Given the description of an element on the screen output the (x, y) to click on. 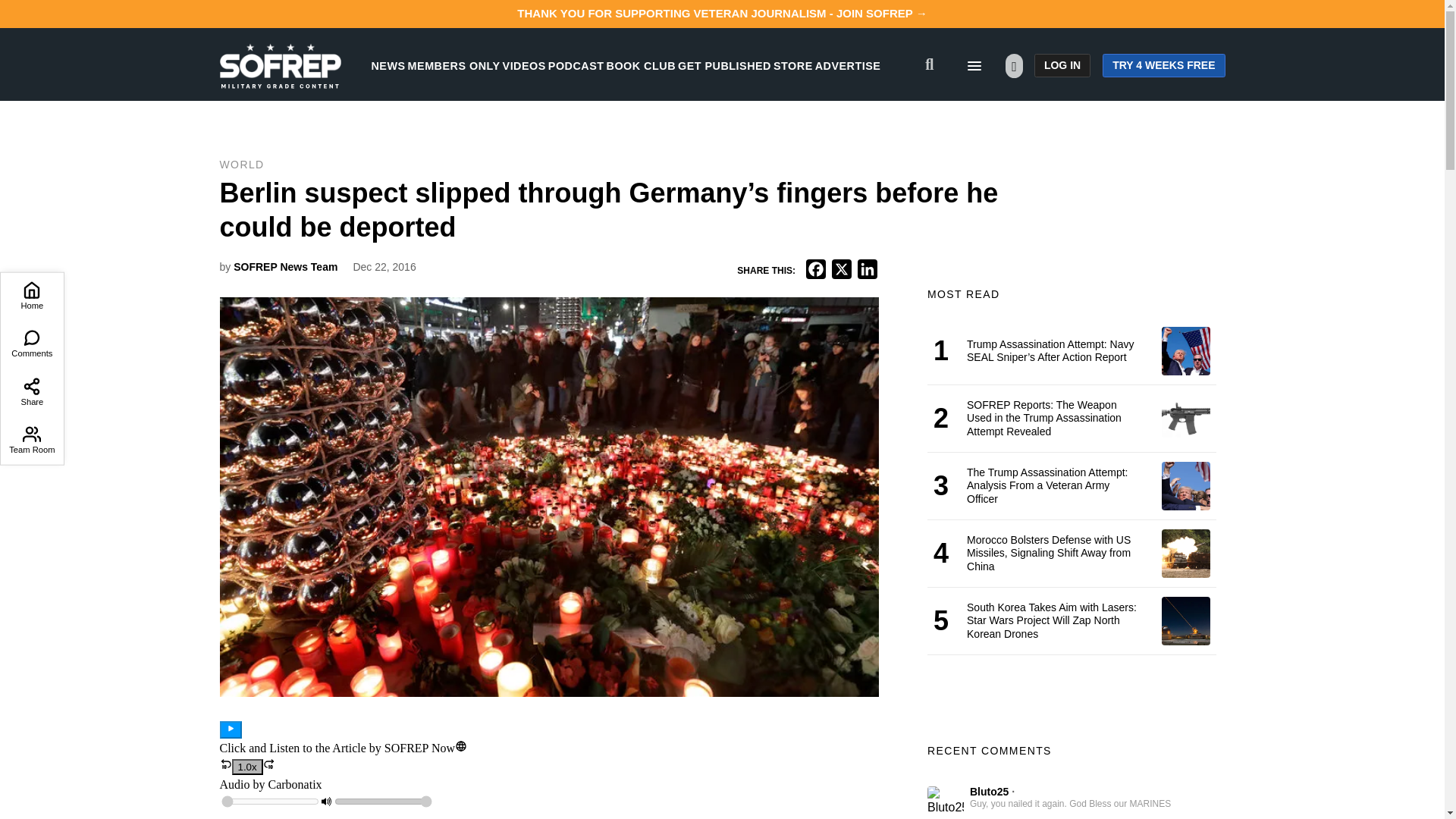
ADVERTISE (847, 65)
GET PUBLISHED (724, 65)
BOOK CLUB (641, 65)
PODCAST (576, 65)
TRY 4 WEEKS FREE (1163, 65)
VIDEOS (524, 65)
NEWS (388, 65)
STORE (792, 65)
MEMBERS ONLY (453, 65)
LOG IN (1061, 65)
